Given the description of an element on the screen output the (x, y) to click on. 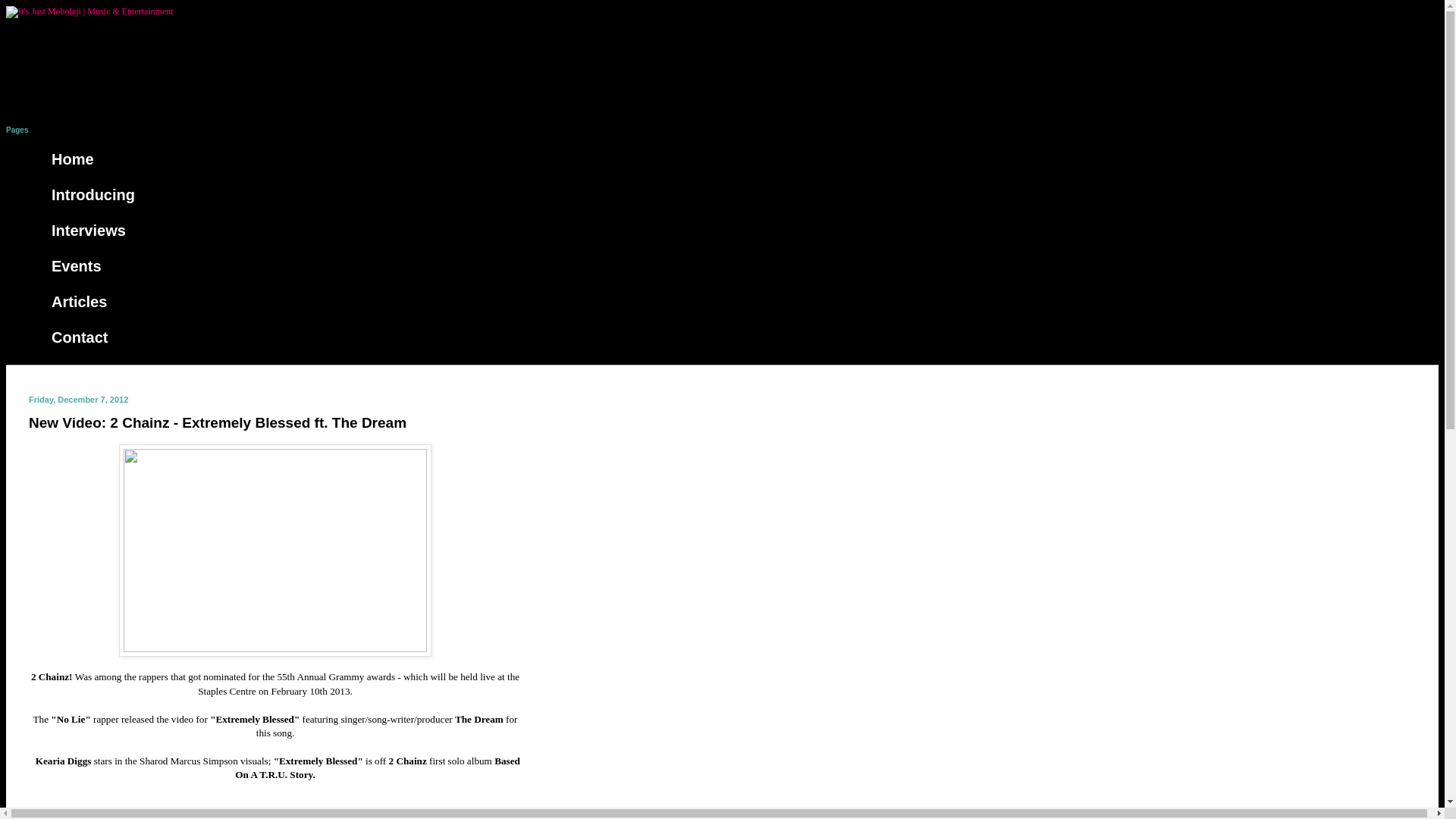
Home (72, 159)
Events (76, 266)
Articles (79, 302)
Contact (79, 337)
Interviews (88, 230)
Introducing (92, 194)
